Given the description of an element on the screen output the (x, y) to click on. 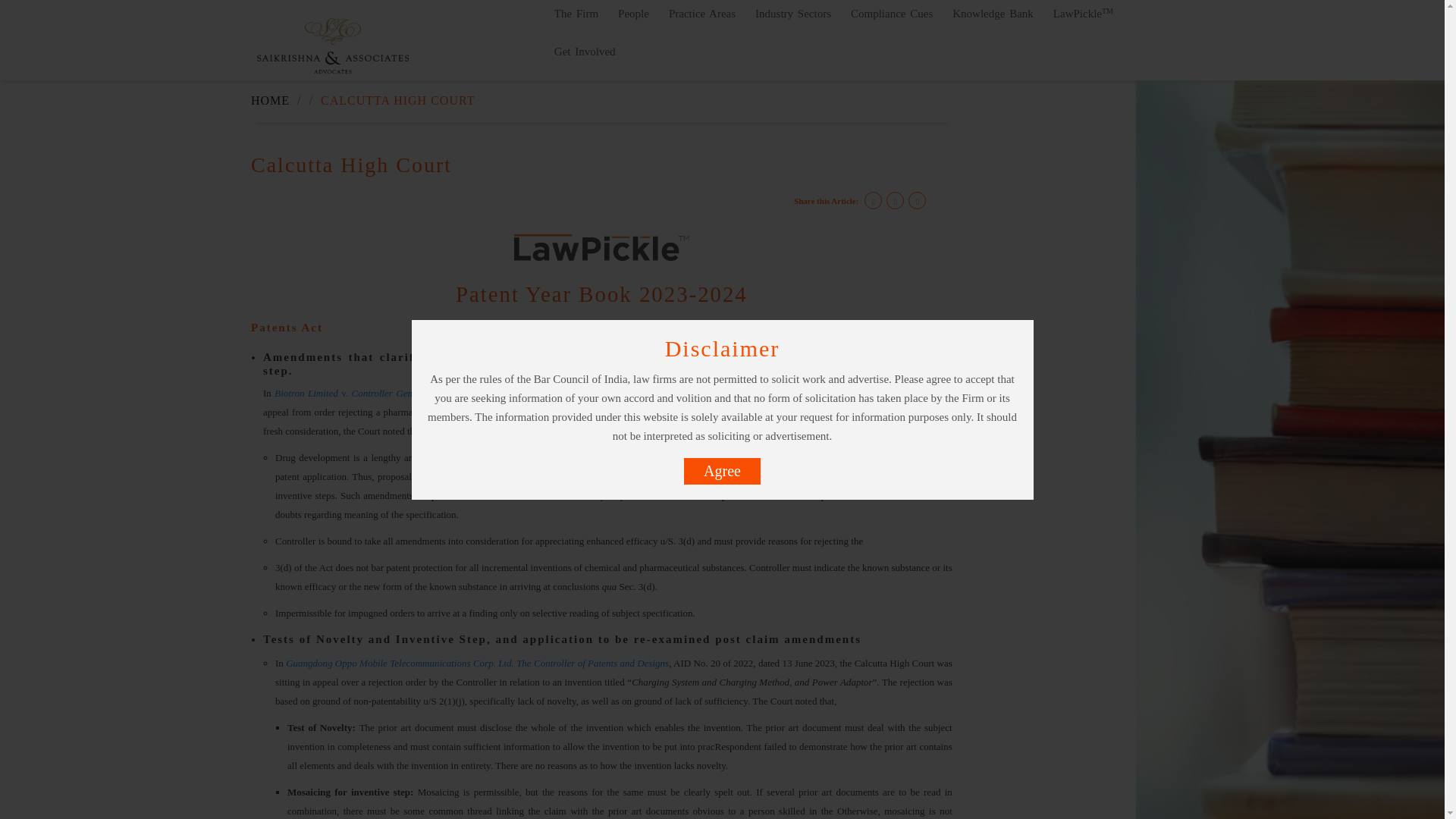
People (633, 21)
Knowledge Bank (992, 21)
Compliance Cues (891, 21)
Practice Areas (702, 21)
The Firm (576, 21)
LawPickleTM (1082, 21)
Industry Sectors (793, 21)
